Given the description of an element on the screen output the (x, y) to click on. 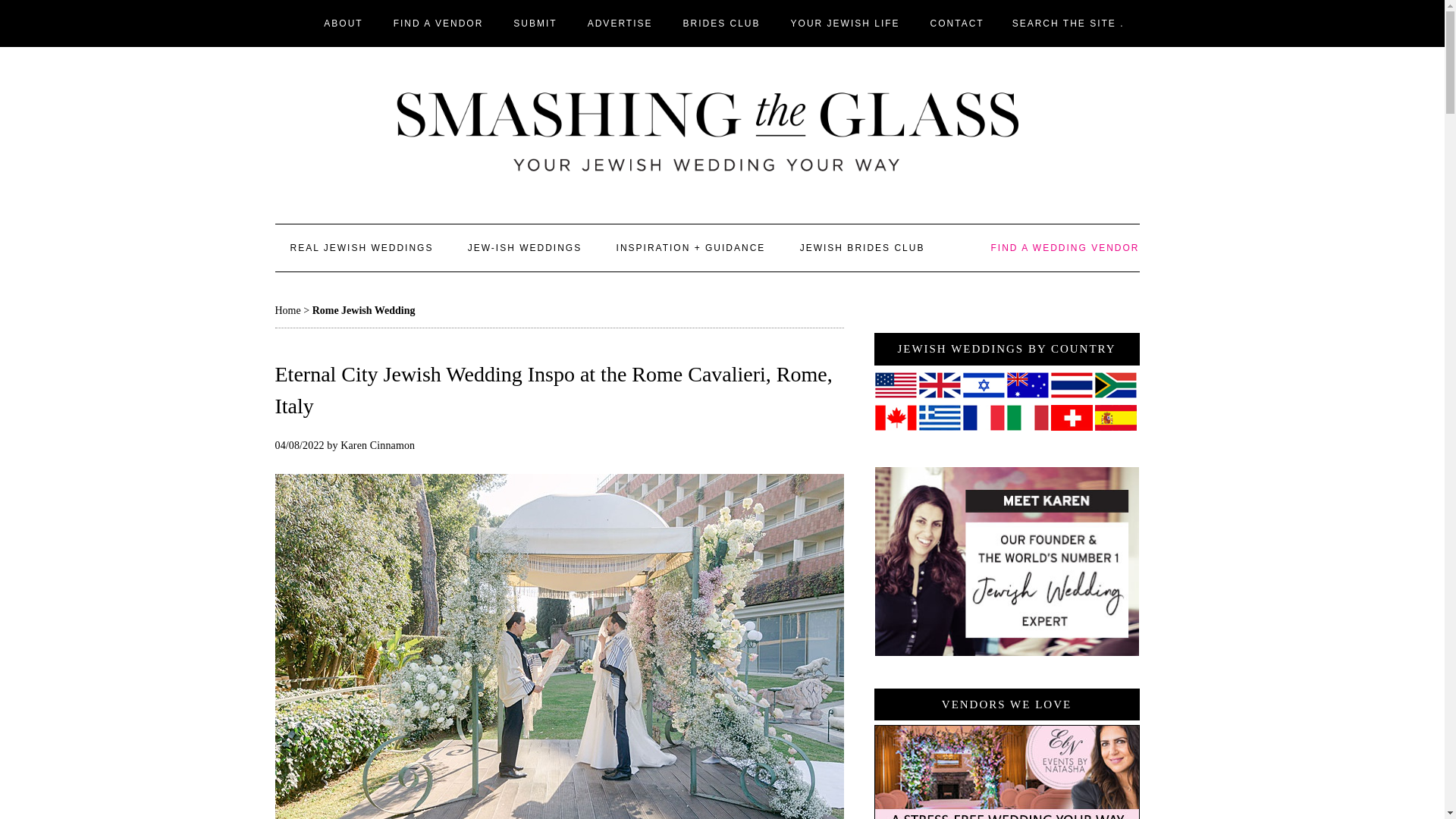
JEW-ISH WEDDINGS (524, 247)
CONTACT (956, 23)
BRIDES CLUB (722, 23)
SUBMIT (534, 23)
ABOUT (342, 23)
FIND A VENDOR (438, 23)
REAL JEWISH WEDDINGS (361, 247)
